Given the description of an element on the screen output the (x, y) to click on. 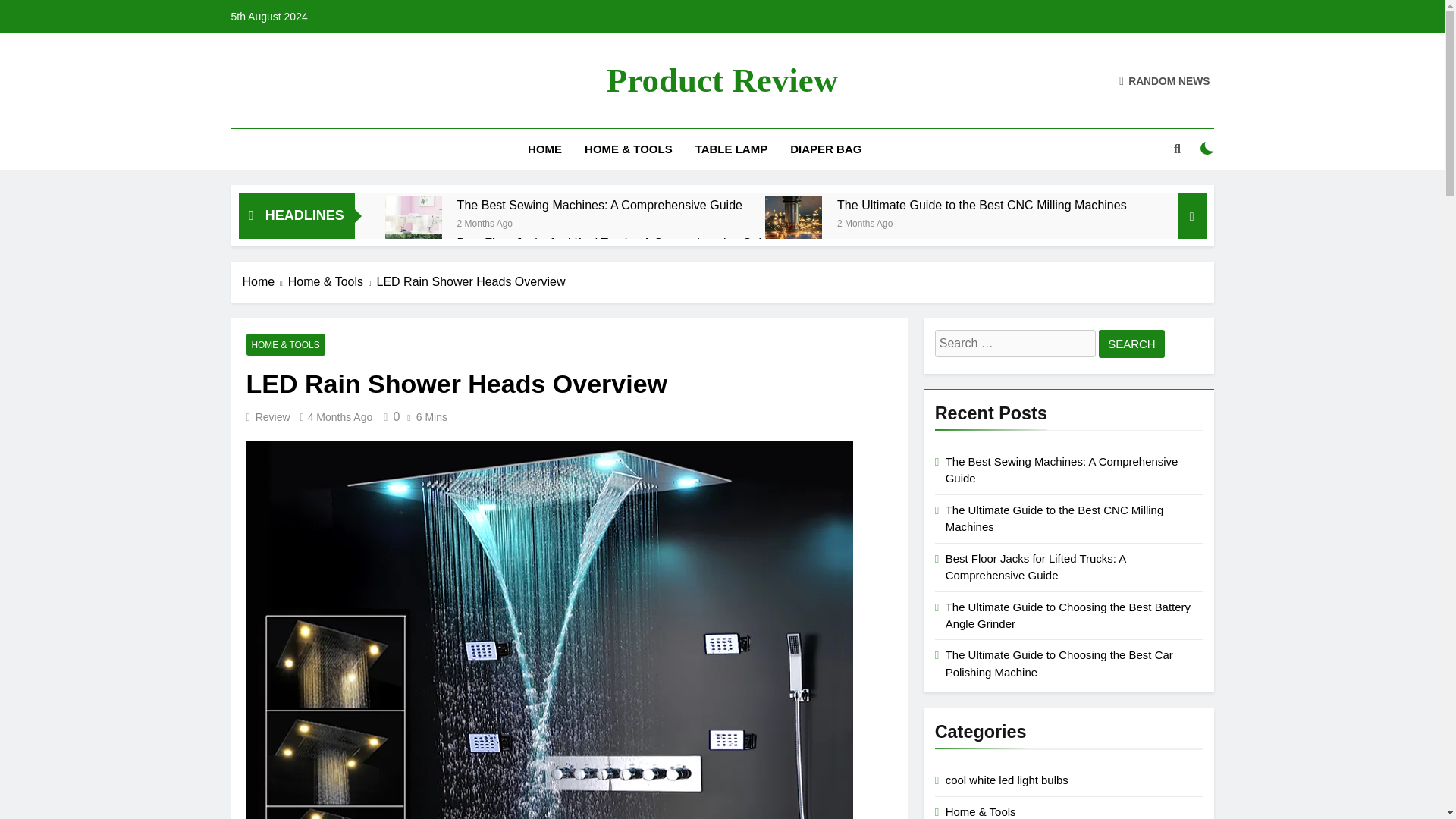
The Best Sewing Machines: A Comprehensive Guide (599, 205)
The Ultimate Guide to the Best CNC Milling Machines (793, 224)
Search (1131, 343)
Best Floor Jacks for Lifted Trucks: A Comprehensive Guide (615, 242)
TABLE LAMP (731, 148)
Best Floor Jacks for Lifted Trucks: A Comprehensive Guide (615, 242)
The Best Sewing Machines: A Comprehensive Guide (599, 205)
Product Review (722, 80)
The Best Sewing Machines: A Comprehensive Guide (413, 224)
0 (388, 416)
